Given the description of an element on the screen output the (x, y) to click on. 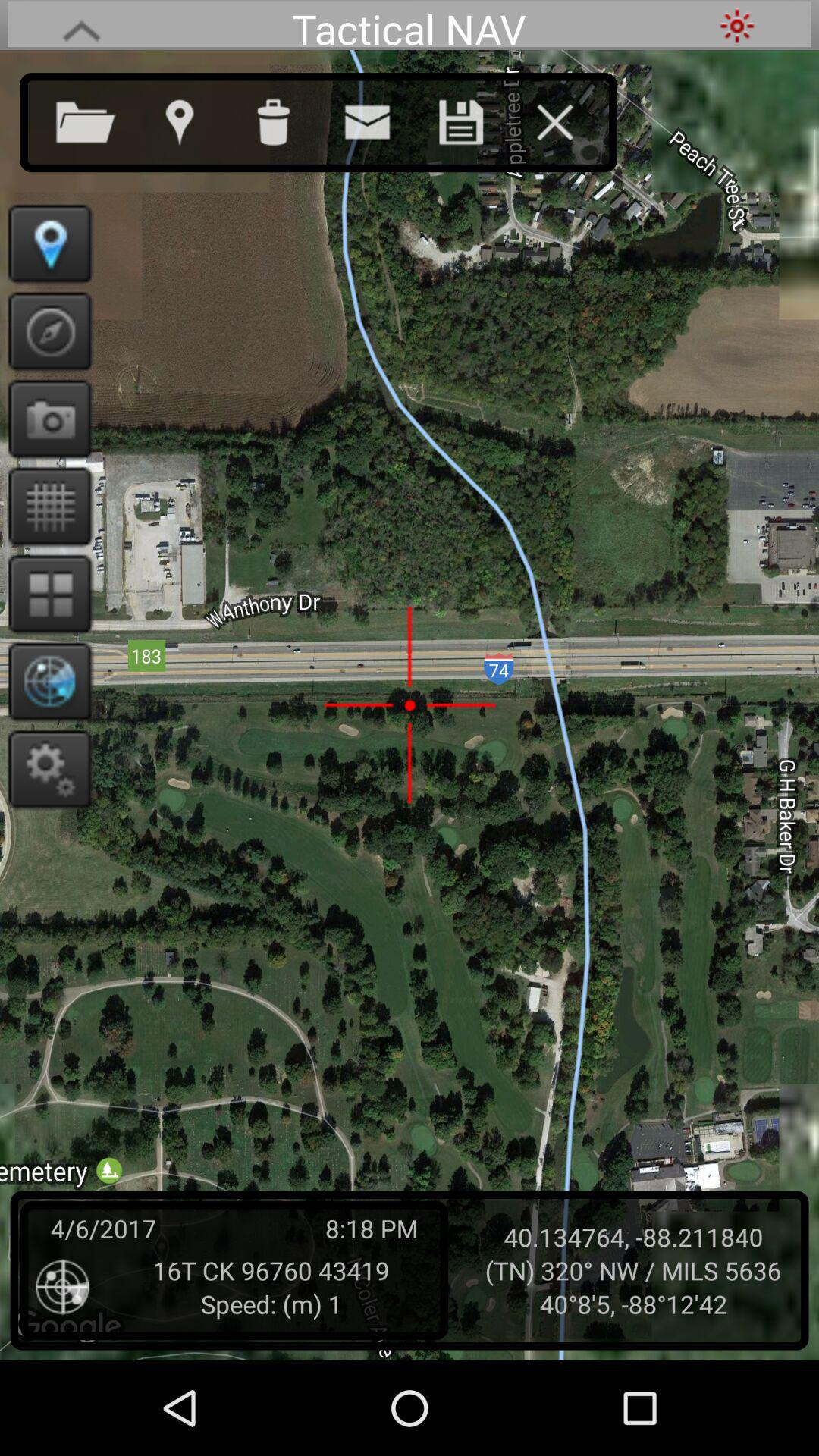
save as (476, 119)
